Given the description of an element on the screen output the (x, y) to click on. 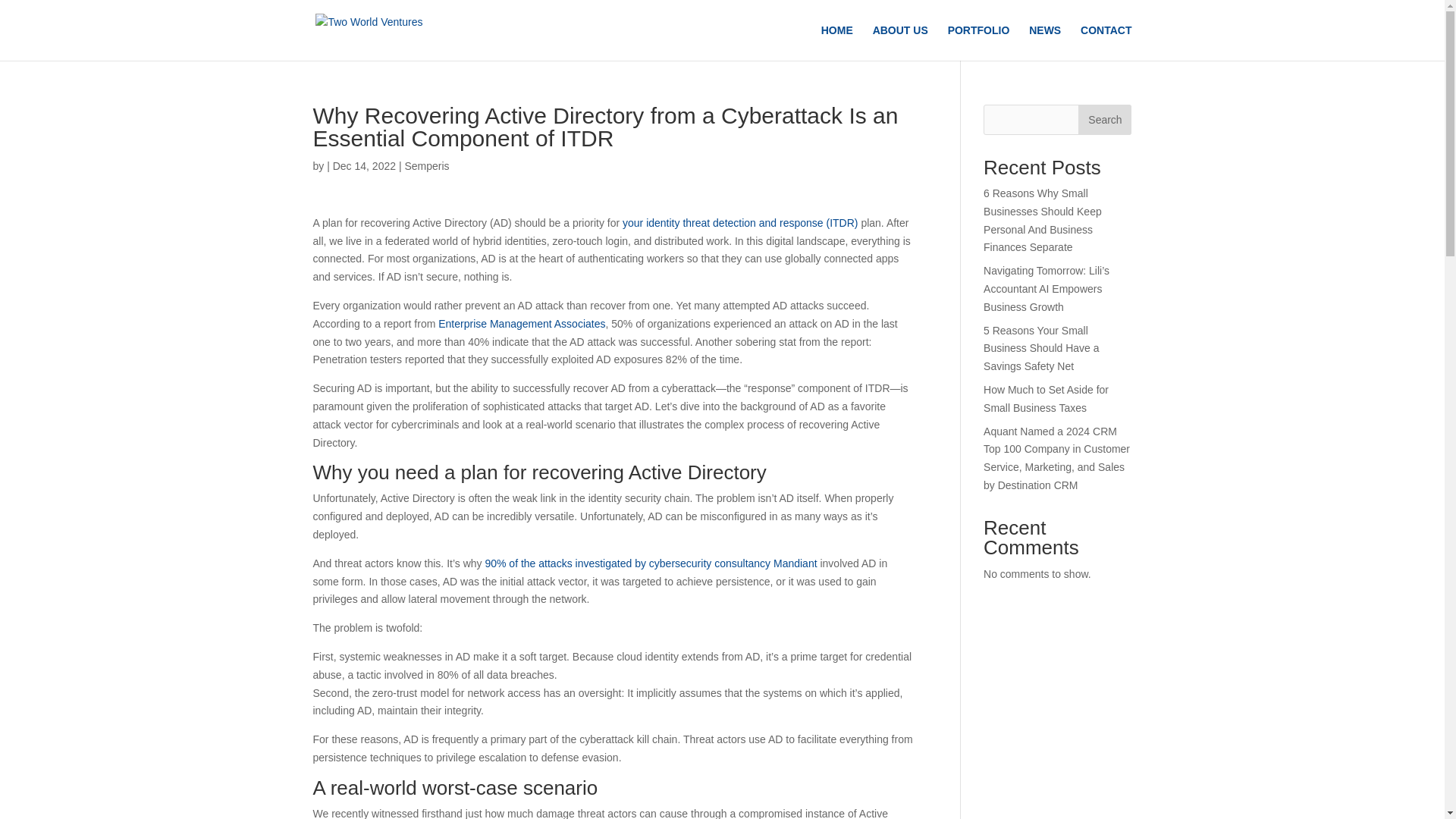
HOME (837, 42)
Semperis (426, 165)
NEWS (1045, 42)
PORTFOLIO (978, 42)
ABOUT US (900, 42)
CONTACT (1105, 42)
Search (1104, 119)
Enterprise Management Associates (521, 323)
How Much to Set Aside for Small Business Taxes (1046, 399)
